Given the description of an element on the screen output the (x, y) to click on. 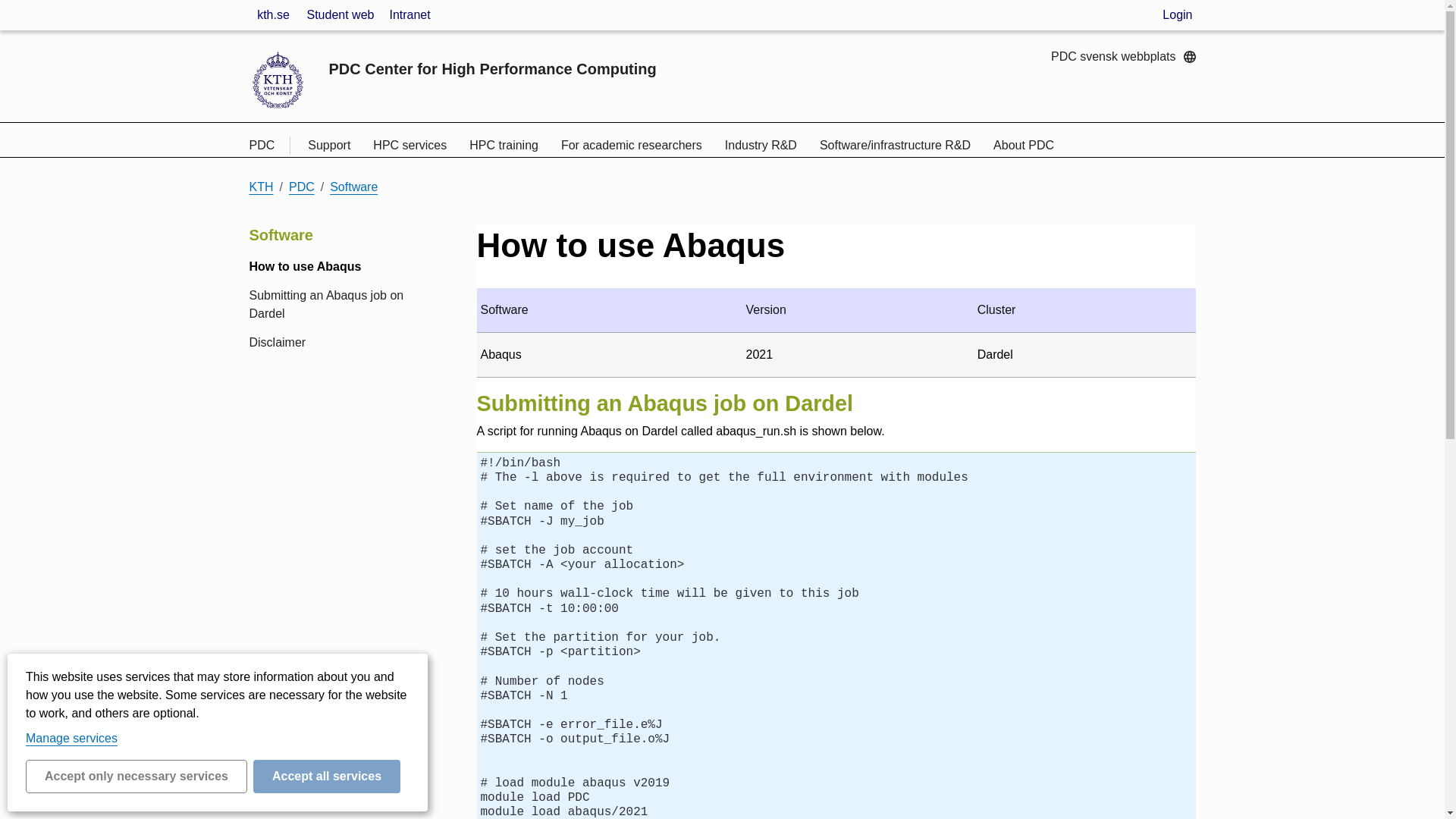
Accept only necessary services (136, 776)
About PDC (1024, 145)
Support (328, 145)
HPC training (503, 145)
PDC Center for High Performance Computing (492, 68)
Student web (339, 15)
kth.se (272, 15)
Login (1176, 15)
PDC (268, 145)
PDC svensk webbplats (1123, 56)
